Given the description of an element on the screen output the (x, y) to click on. 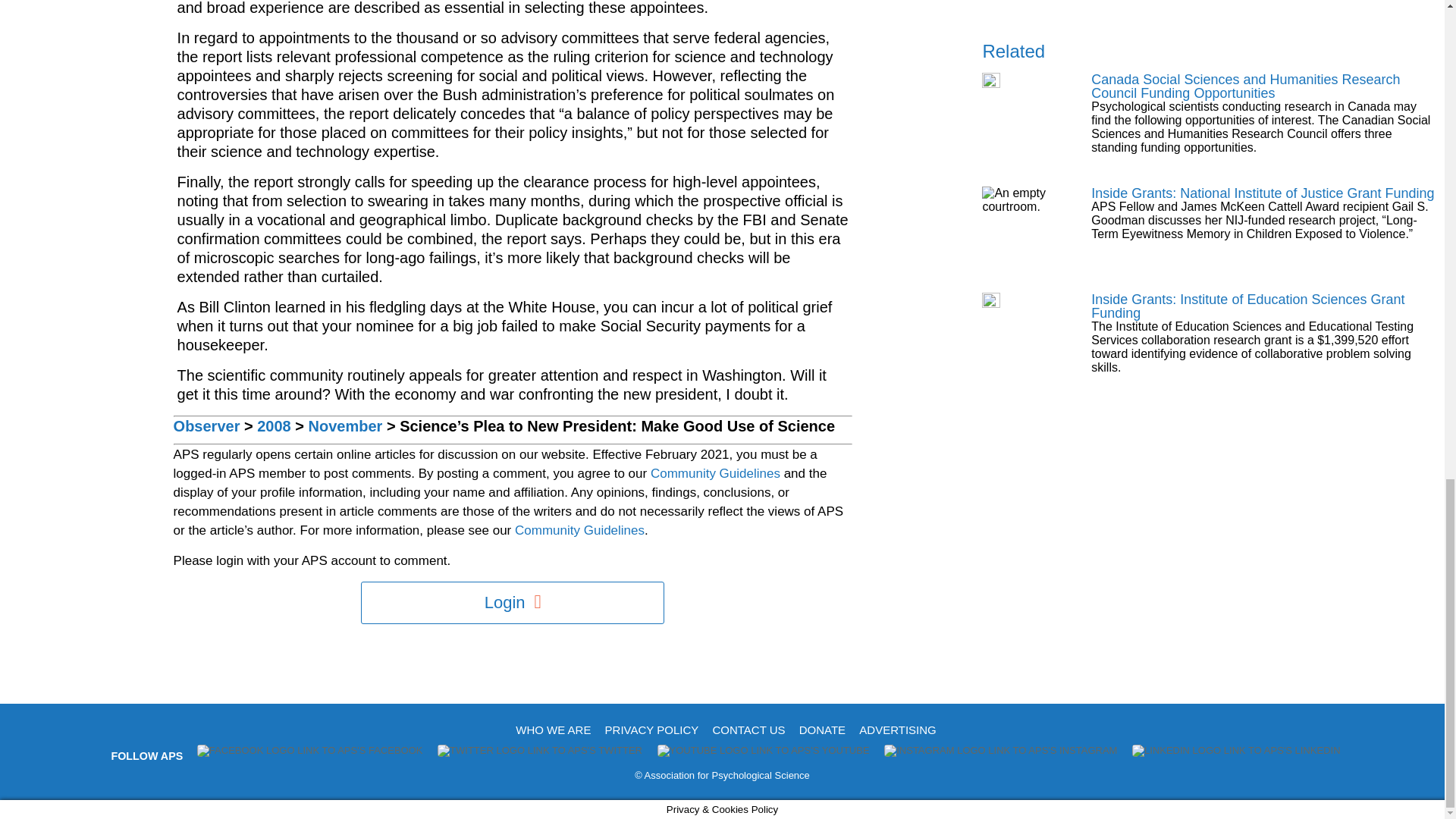
Go to Observer. (206, 425)
Go to the 2008 Issue archives. (274, 425)
Go to the November Issue archives. (345, 425)
